Given the description of an element on the screen output the (x, y) to click on. 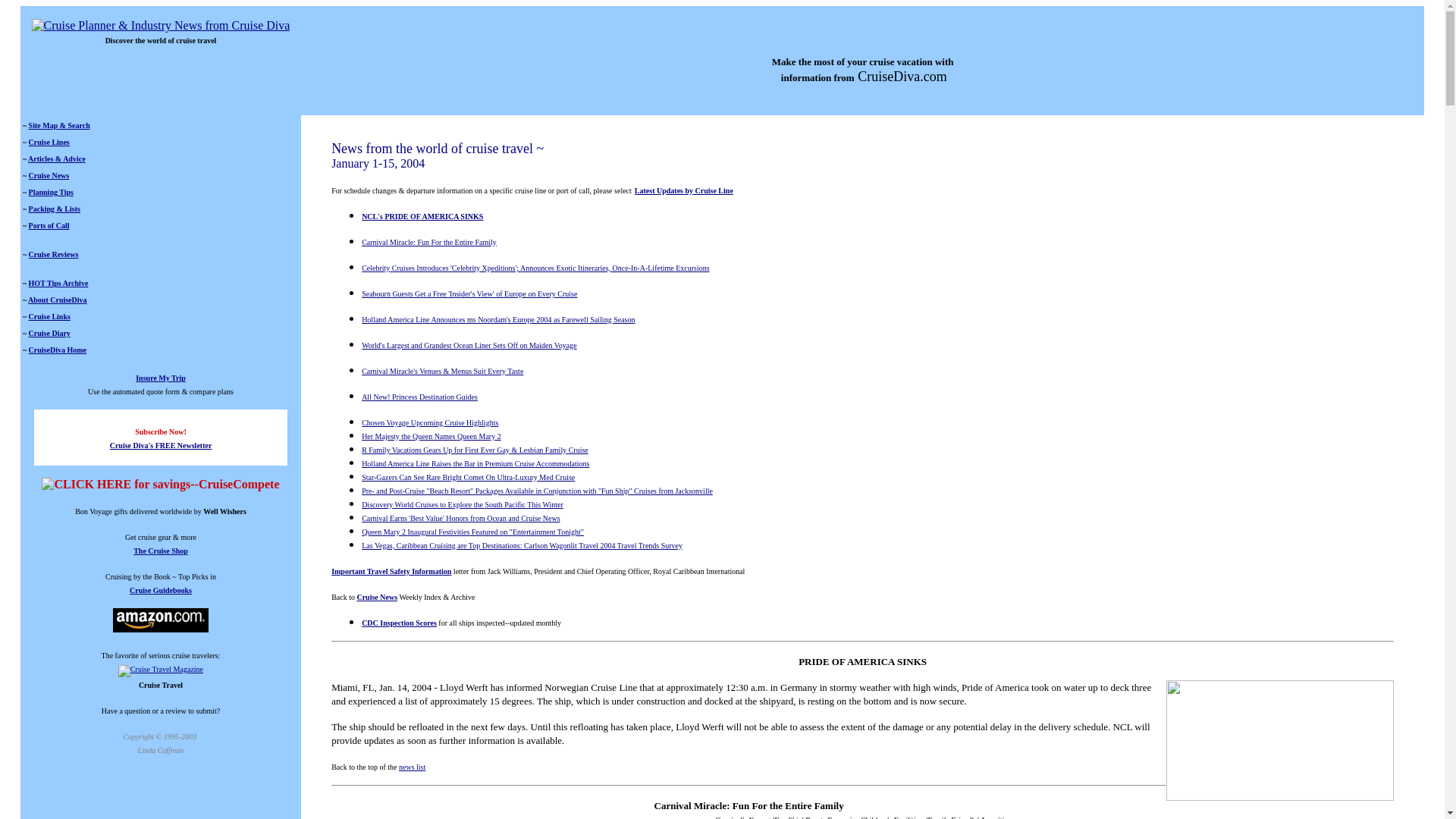
Cruise Diva's FREE Newsletter (161, 450)
About CruiseDiva (57, 299)
Cruise Diary (49, 333)
Insure My Trip (160, 377)
Cruise Reviews (53, 254)
All New! Princess Destination Guides (419, 395)
Latest Updates by Cruise Line (683, 188)
Cruise Links (49, 316)
Cruise News (49, 175)
Cruise Guidebooks (160, 590)
